Given the description of an element on the screen output the (x, y) to click on. 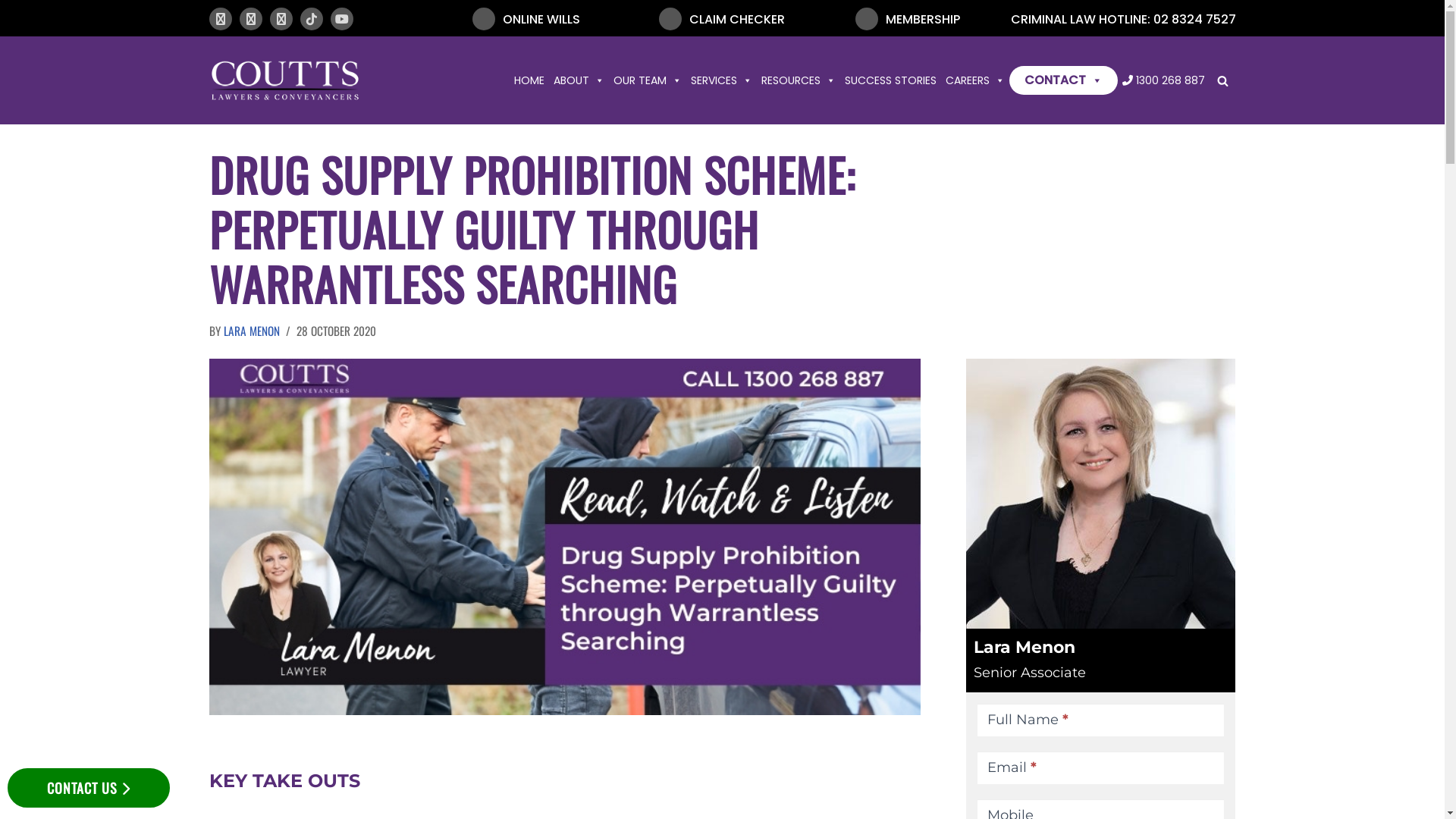
CLAIM CHECKER Element type: text (721, 17)
CONTACT Element type: text (1062, 79)
LARA MENON Element type: text (250, 330)
CAREERS Element type: text (974, 80)
ABOUT Element type: text (578, 80)
RESOURCES Element type: text (798, 80)
ONLINE WILLS Element type: text (526, 17)
1300 268 887 Element type: text (1163, 80)
SERVICES Element type: text (720, 80)
Skip to content Element type: text (11, 31)
HOME Element type: text (529, 80)
SUCCESS STORIES Element type: text (890, 80)
CONTACT US Element type: text (88, 787)
OUR TEAM Element type: text (646, 80)
CRIMINAL LAW HOTLINE: 02 8324 7527 Element type: text (1071, 19)
MEMBERSHIP Element type: text (907, 17)
Lara Menon
Senior Associate Element type: text (1100, 659)
